Given the description of an element on the screen output the (x, y) to click on. 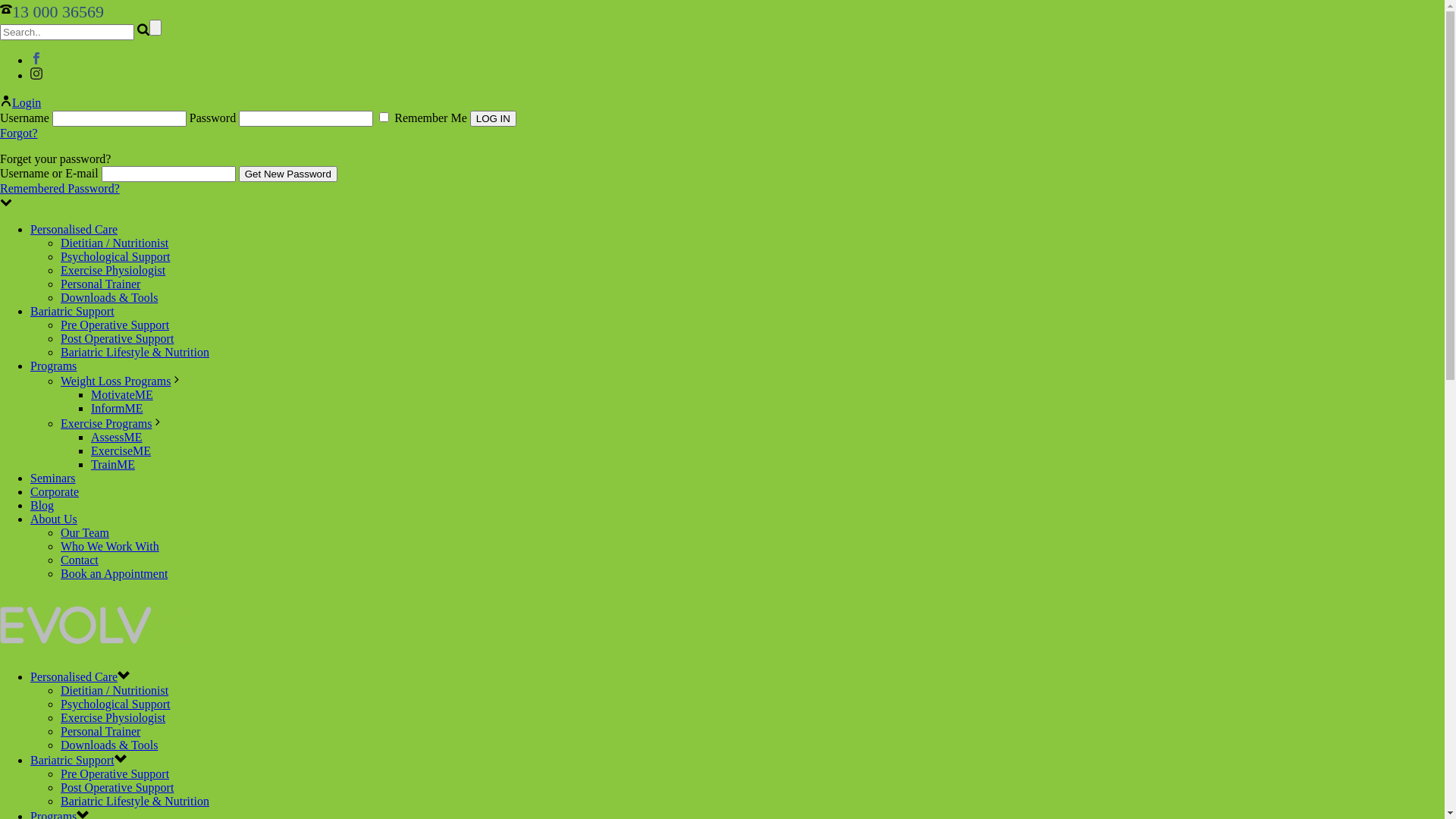
Downloads & Tools Element type: text (108, 744)
ExerciseME Element type: text (120, 450)
Downloads & Tools Element type: text (108, 297)
Weight Loss Programs Element type: text (115, 380)
Post Operative Support Element type: text (116, 787)
13 000 36569 Element type: text (76, 10)
Login Element type: text (20, 102)
Bariatric Support Element type: text (72, 310)
Bariatric Lifestyle & Nutrition Element type: text (134, 800)
Personalised Care Element type: text (73, 676)
Personalised Care Element type: text (73, 228)
About Us Element type: text (53, 518)
TrainME Element type: text (112, 464)
Post Operative Support Element type: text (116, 338)
Exercise Physiologist Element type: text (112, 269)
Personal Trainer Element type: text (100, 730)
LOG IN Element type: text (493, 118)
Dietitian / Nutritionist Element type: text (114, 690)
Who We Work With Element type: text (109, 545)
Psychological Support Element type: text (114, 703)
Contact Element type: text (79, 559)
Blog Element type: text (41, 504)
Dietitian / Nutritionist Element type: text (114, 242)
Programs Element type: text (53, 365)
Exercise Programs Element type: text (105, 423)
Remembered Password? Element type: text (59, 188)
Seminars Element type: text (52, 477)
Pre Operative Support Element type: text (114, 324)
Forgot? Element type: text (18, 132)
AssessME Element type: text (116, 436)
Personal Trainer Element type: text (100, 283)
MotivateME Element type: text (122, 394)
Book an Appointment Element type: text (113, 573)
evolvme.com.au Element type: hover (103, 649)
Corporate Element type: text (54, 491)
Get New Password Element type: text (287, 174)
Bariatric Support Element type: text (72, 759)
Exercise Physiologist Element type: text (112, 717)
Pre Operative Support Element type: text (114, 773)
InformME Element type: text (116, 407)
Our Team Element type: text (84, 532)
Bariatric Lifestyle & Nutrition Element type: text (134, 351)
Psychological Support Element type: text (114, 256)
